Given the description of an element on the screen output the (x, y) to click on. 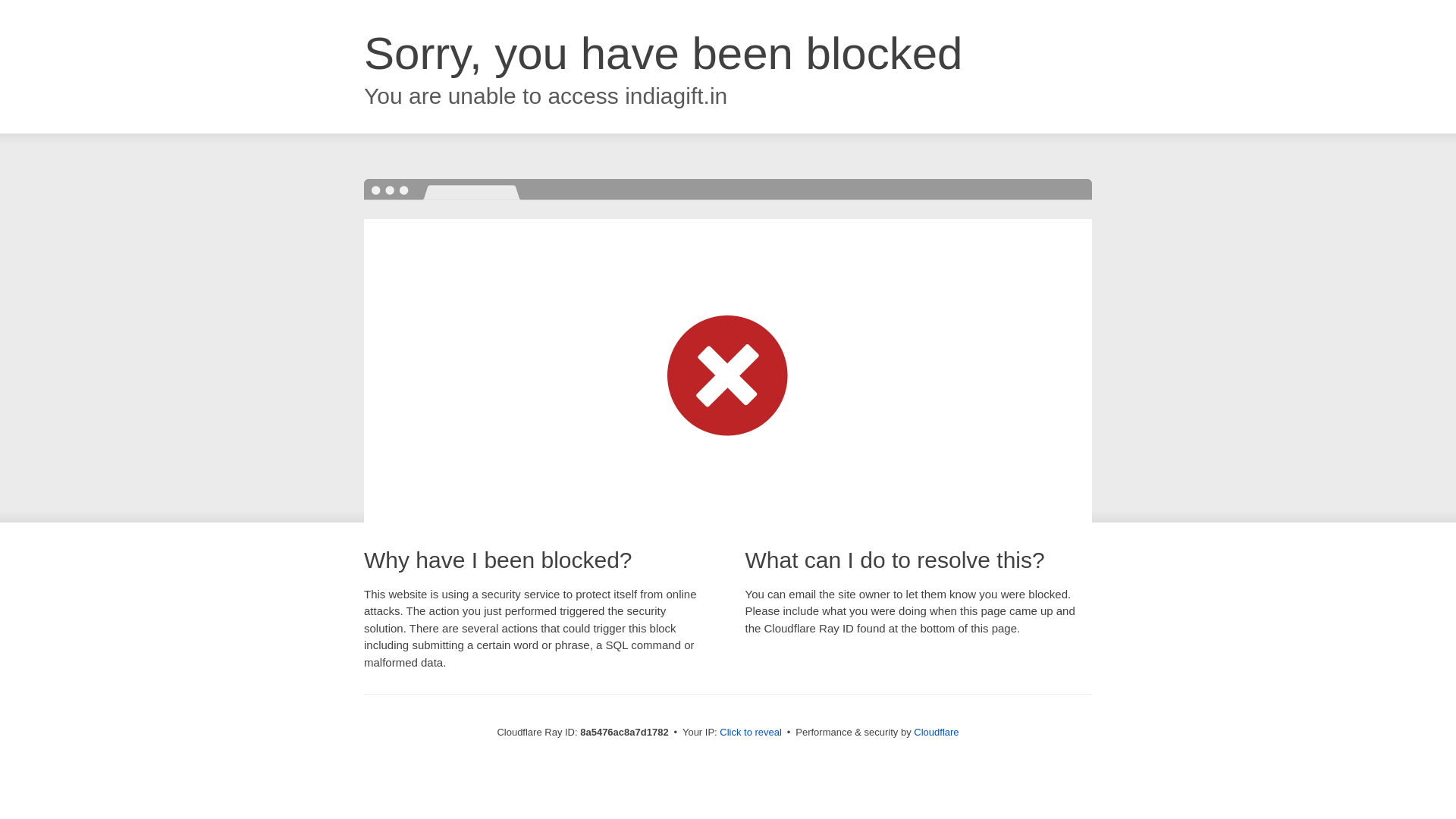
Cloudflare (936, 731)
Click to reveal (750, 732)
